Given the description of an element on the screen output the (x, y) to click on. 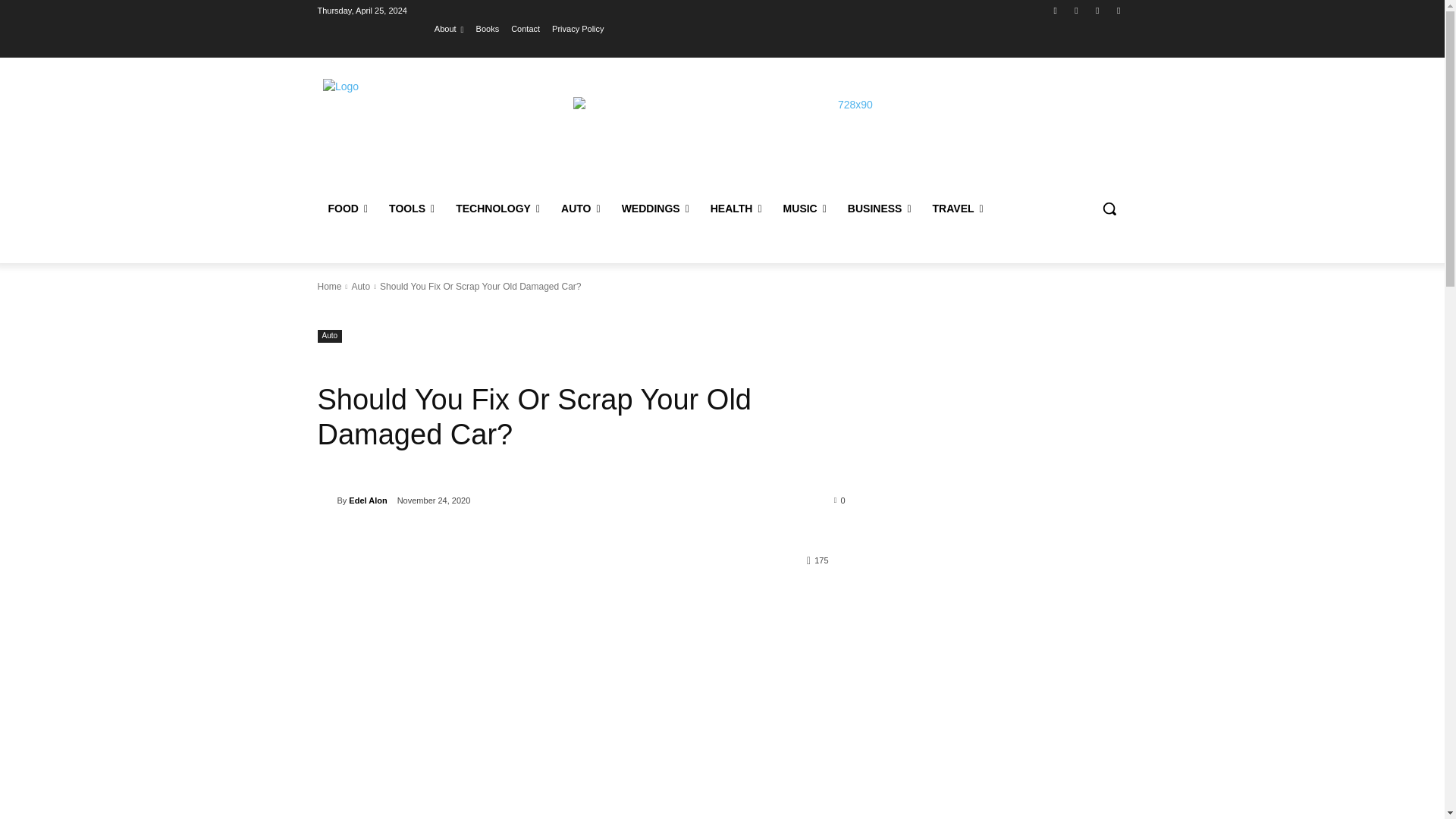
Contact (525, 28)
Privacy Policy (577, 28)
Youtube (1117, 9)
FOOD (347, 208)
728x90 (849, 131)
Twitter (1097, 9)
About (448, 28)
Instagram (1075, 9)
Facebook (1055, 9)
Books (487, 28)
